Given the description of an element on the screen output the (x, y) to click on. 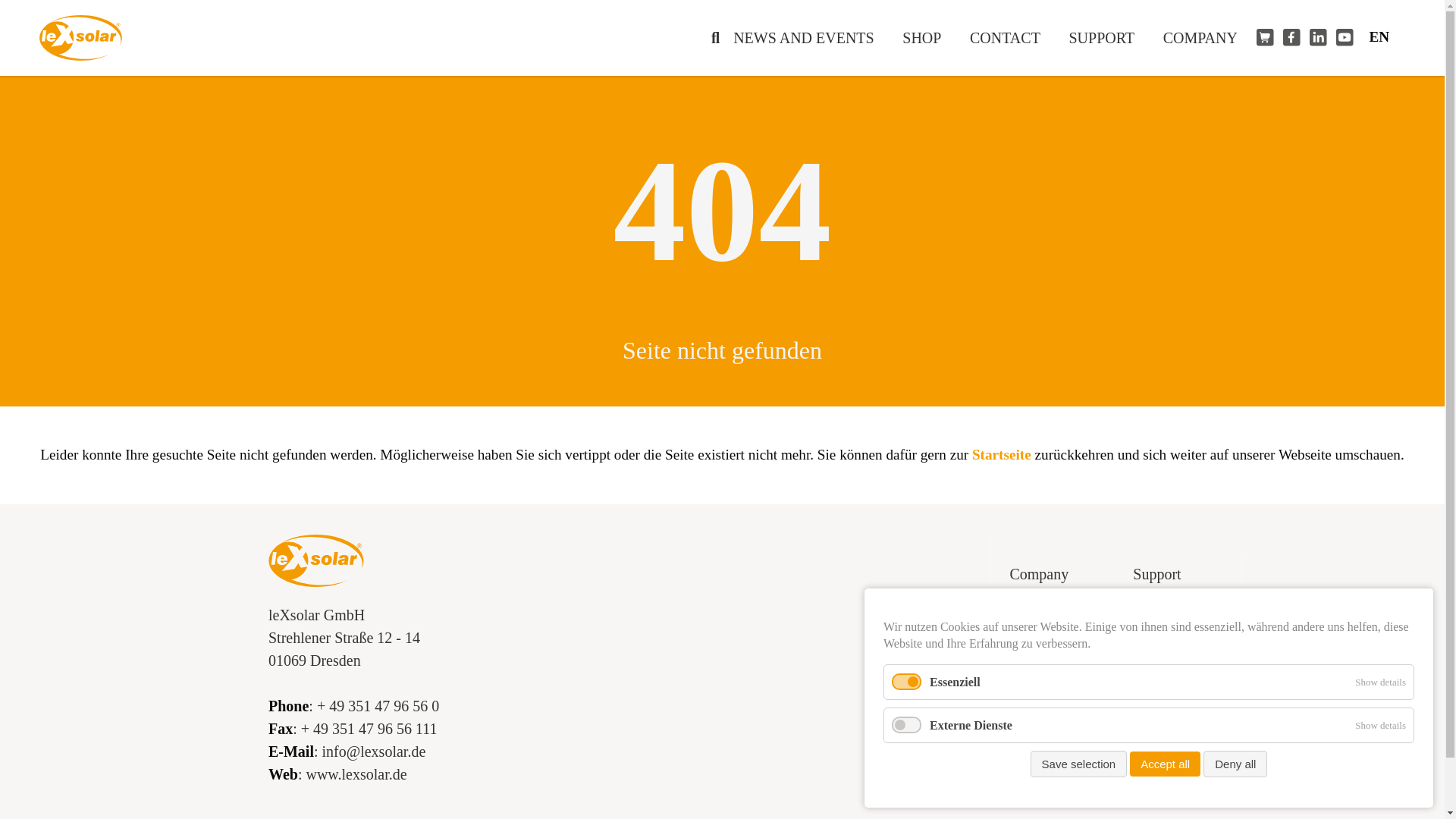
SHOP (926, 37)
Support (1177, 573)
NEWS AND EVENTS (808, 37)
Shop (1062, 643)
COMPANY (1205, 37)
Unternehmen (1205, 37)
Show details (1380, 682)
CONTACT (1009, 37)
News and Events (1062, 608)
Startseite (1001, 454)
Startseite (1001, 454)
Contact (1062, 678)
www.lexsolar.de (363, 773)
Privacy Policy (1177, 608)
